Given the description of an element on the screen output the (x, y) to click on. 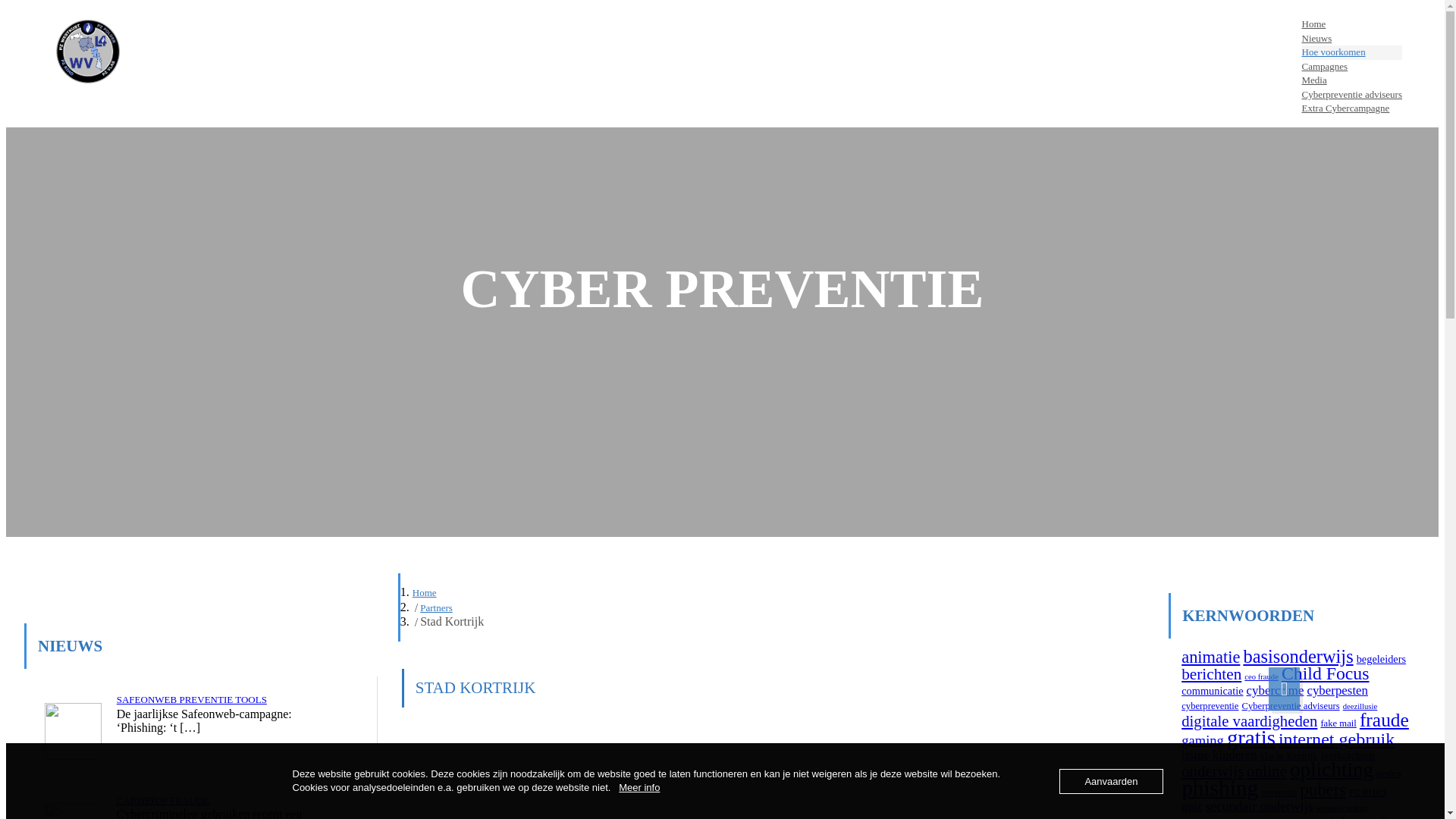
deezillusie Element type: text (1360, 706)
secundair onderwijs Element type: text (1258, 805)
Kortrijk Element type: text (1301, 755)
CARDSTOP FRAUDE Element type: text (162, 800)
Cyberpreventie adviseurs Element type: text (1290, 705)
animatie Element type: text (1210, 656)
klacht Element type: text (1271, 755)
SAFEONWEB PREVENTIE TOOLS Element type: text (191, 699)
basisonderwijs Element type: text (1297, 656)
Partners Element type: text (436, 607)
Child Focus Element type: text (1325, 672)
itsme Element type: text (1195, 754)
Home Element type: text (1352, 24)
fraude Element type: text (1383, 720)
Nieuws Element type: text (1352, 38)
preventie Element type: text (1278, 792)
PZ RIHO Element type: text (1367, 792)
gaming Element type: text (1202, 740)
phishing Element type: text (1219, 787)
pesten Element type: text (1388, 773)
onderwijs Element type: text (1212, 770)
kinderen Element type: text (1234, 754)
Cyberpreventie adviseurs Element type: text (1352, 94)
gratis Element type: text (1250, 737)
cybercrime Element type: text (1275, 690)
quiz Element type: text (1191, 806)
Aanvaarden Element type: text (1110, 780)
oplichting Element type: text (1331, 769)
cyberpreventie Element type: text (1209, 705)
fake mail Element type: text (1338, 723)
cyberpesten Element type: text (1337, 690)
seksueel gedrag Element type: text (1341, 807)
Extra Cybercampagne Element type: text (1352, 108)
Campagnes Element type: text (1352, 66)
berichten Element type: text (1211, 673)
communicatie Element type: text (1211, 690)
begeleiders Element type: text (1380, 658)
digitale vaardigheden Element type: text (1249, 720)
Home Element type: text (424, 592)
ceo fraude Element type: text (1261, 675)
online Element type: text (1266, 771)
leerkrachten Element type: text (1347, 755)
pubers Element type: text (1322, 789)
Hoe voorkomen Element type: text (1352, 52)
Media Element type: text (1352, 80)
internet gebruik Element type: text (1336, 739)
Meer info Element type: text (638, 787)
